Given the description of an element on the screen output the (x, y) to click on. 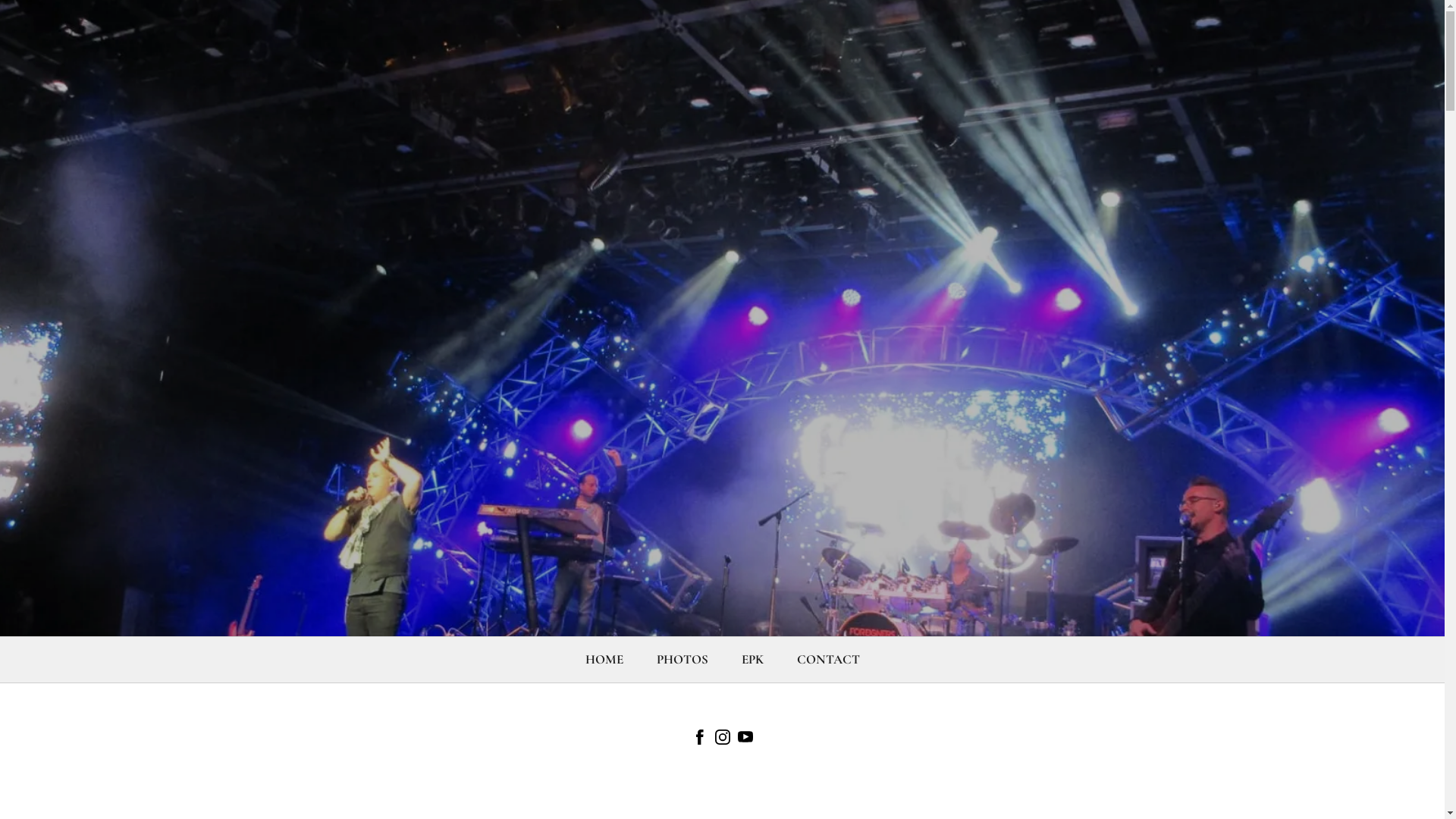
HOME Element type: text (603, 659)
https://youtube.com/channel/UC1WTMS-dYQZ7IGxU7tn3lXQ Element type: hover (744, 740)
EPK Element type: text (751, 659)
PHOTOS Element type: text (681, 659)
https://instagram.com/theforeignersjourney Element type: hover (721, 740)
CONTACT Element type: text (828, 659)
https://www.facebook.com/theforeignersjourney Element type: hover (698, 740)
